Given the description of an element on the screen output the (x, y) to click on. 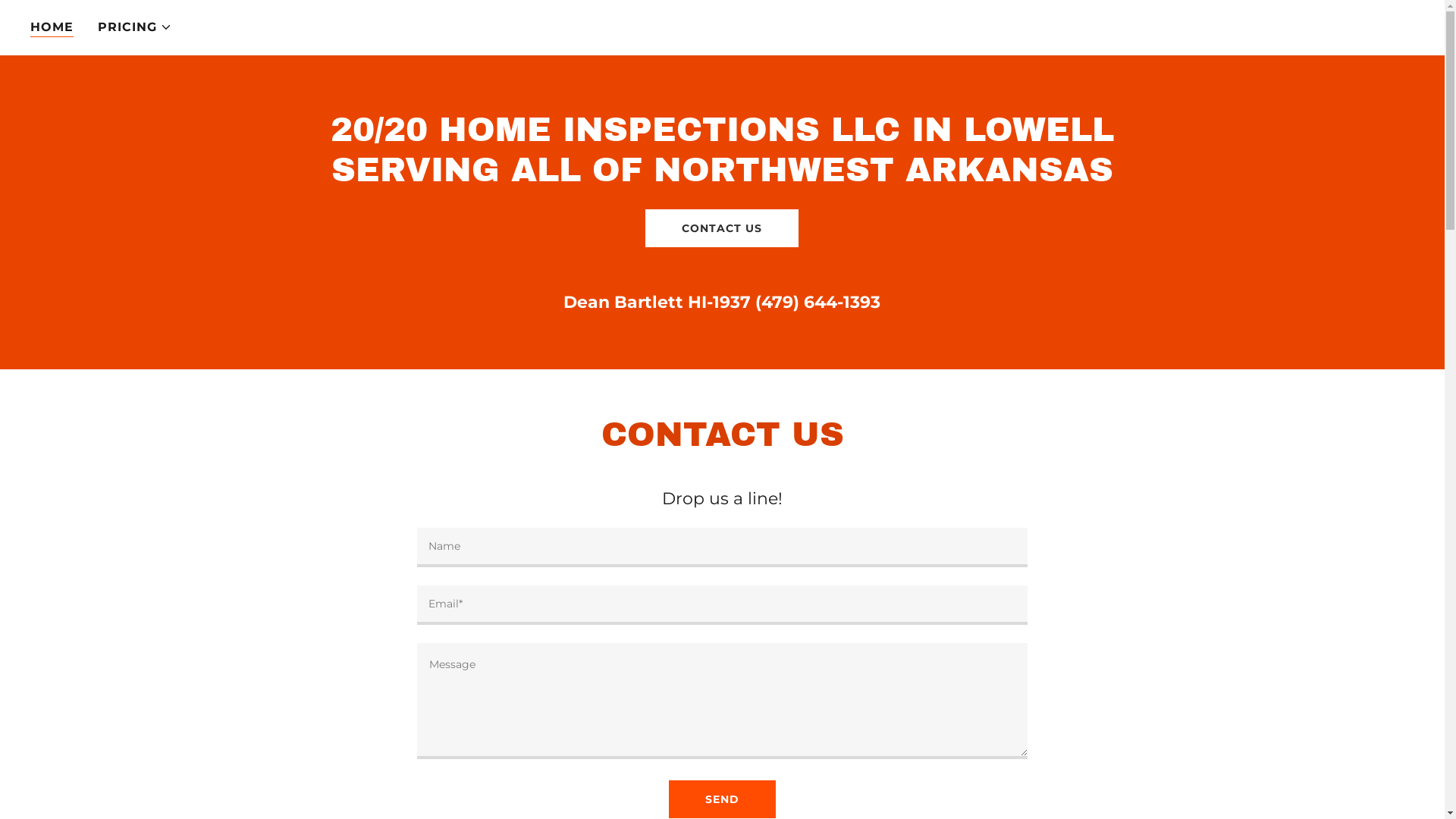
HOME Element type: text (51, 27)
SEND Element type: text (721, 799)
-1937 (479) 644-1393 Element type: text (793, 301)
CONTACT US Element type: text (721, 228)
PRICING Element type: text (134, 26)
